Given the description of an element on the screen output the (x, y) to click on. 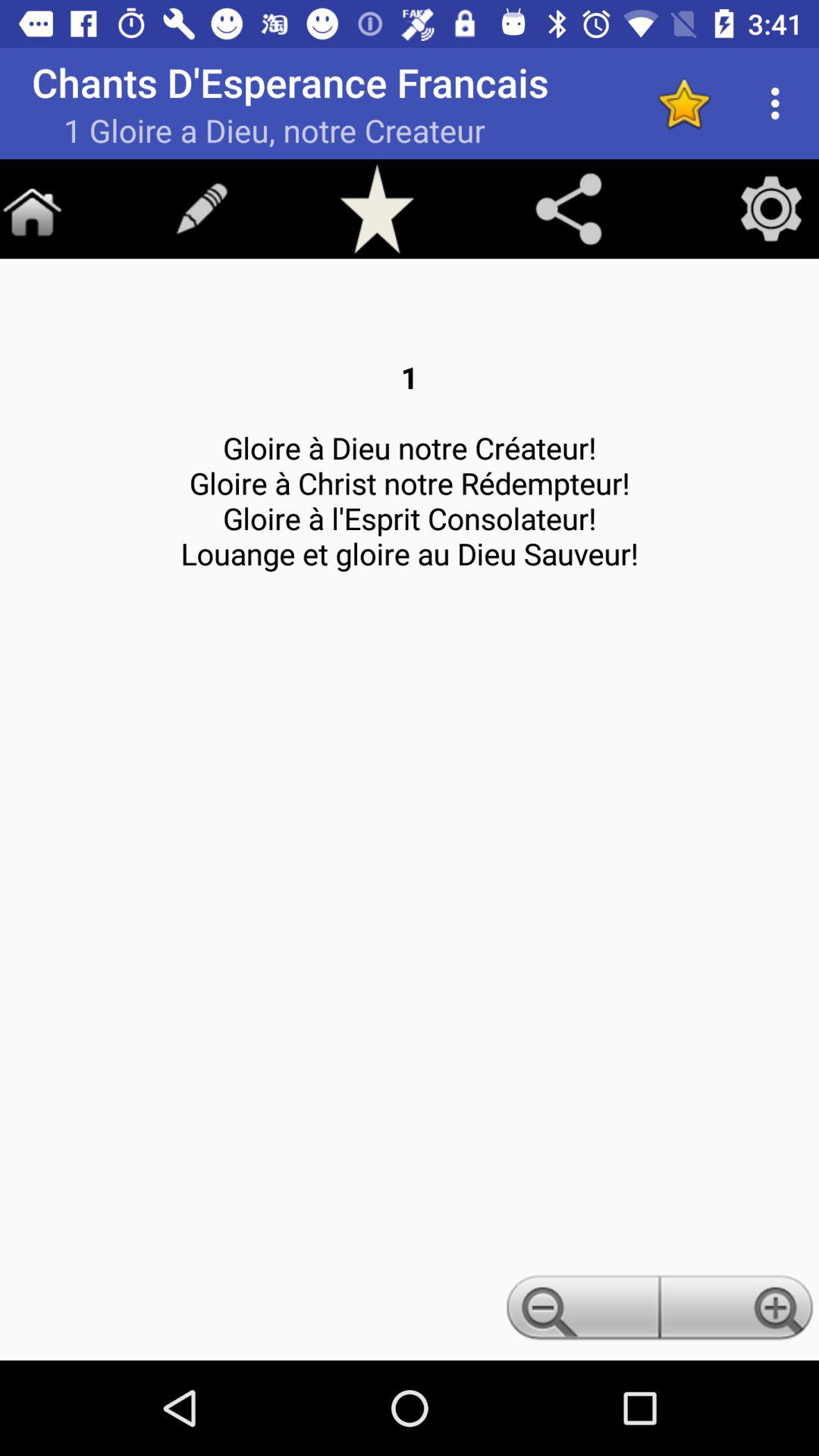
unfavorite the current item (683, 103)
